Given the description of an element on the screen output the (x, y) to click on. 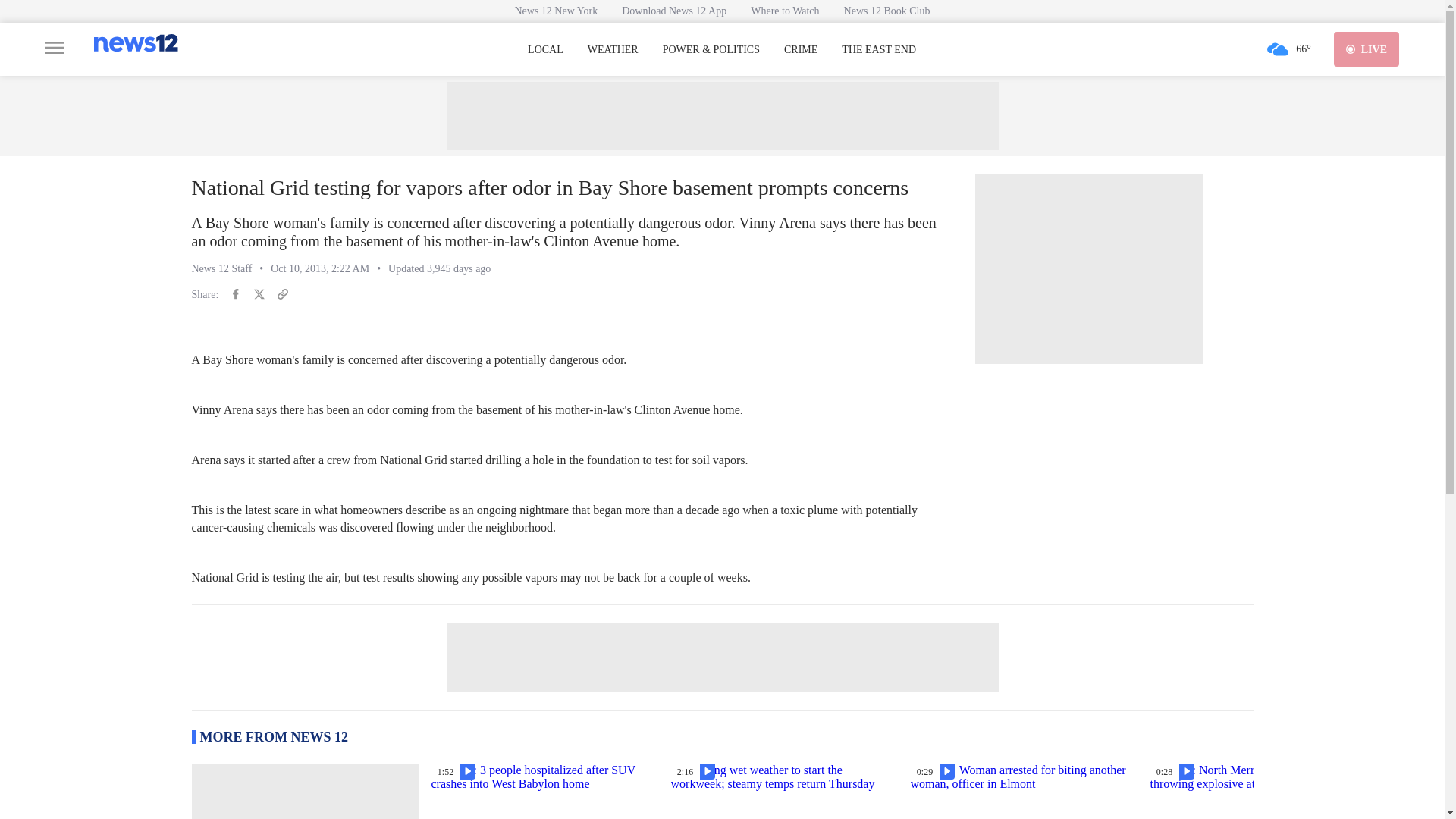
Where to Watch (784, 11)
News 12 New York (556, 11)
LOCAL (545, 49)
CRIME (800, 49)
Download News 12 App (673, 11)
LIVE (1366, 48)
News 12 Book Club (886, 11)
THE EAST END (878, 49)
WEATHER (613, 49)
